Given the description of an element on the screen output the (x, y) to click on. 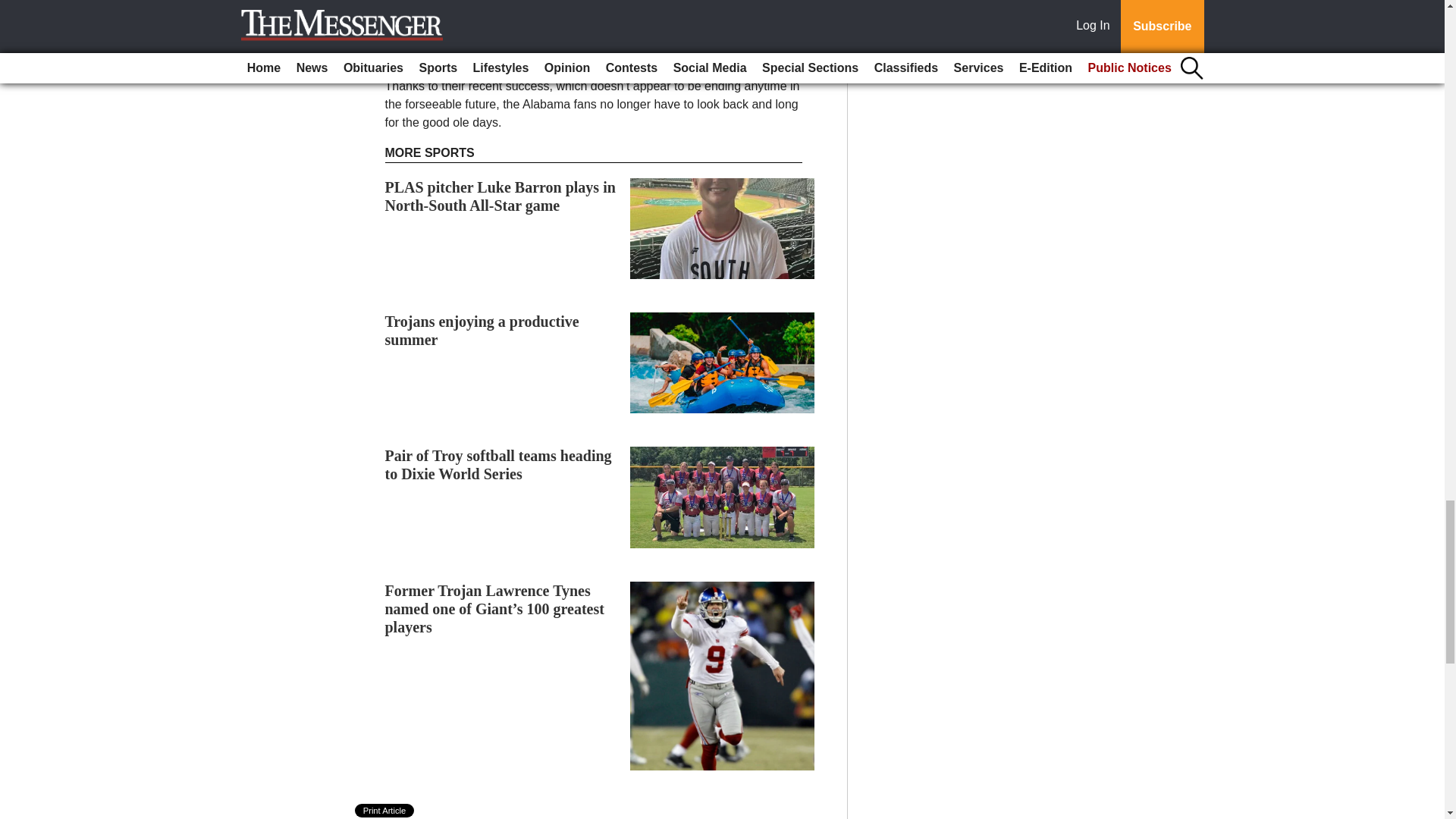
PLAS pitcher Luke Barron plays in North-South All-Star game (500, 196)
Trojans enjoying a productive summer (482, 330)
